Given the description of an element on the screen output the (x, y) to click on. 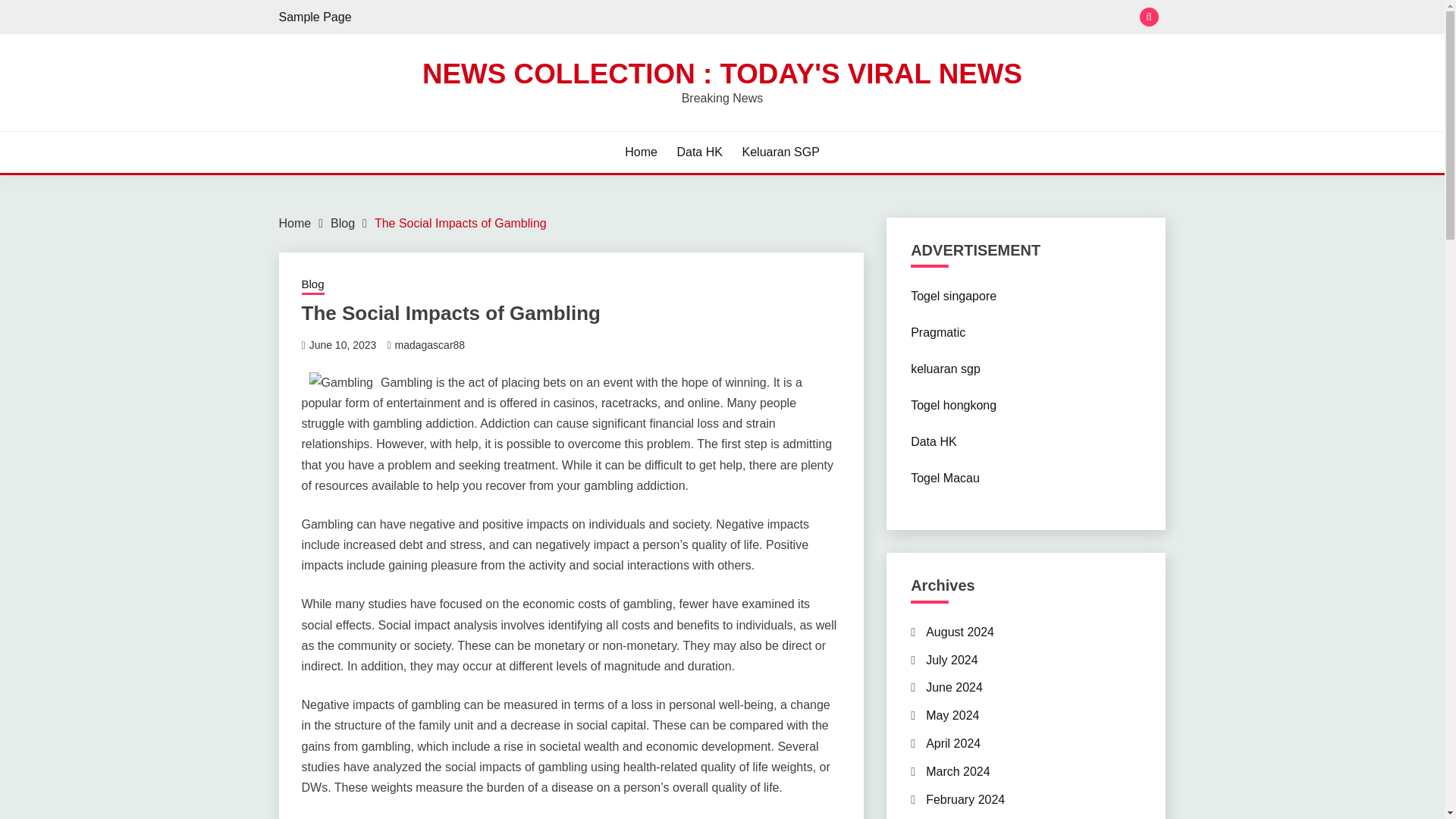
Blog (312, 285)
Data HK (699, 152)
Togel hongkong (953, 404)
June 2024 (954, 686)
keluaran sgp (945, 368)
The Social Impacts of Gambling (460, 223)
April 2024 (952, 743)
Data HK (933, 440)
March 2024 (958, 771)
June 10, 2023 (342, 345)
